Given the description of an element on the screen output the (x, y) to click on. 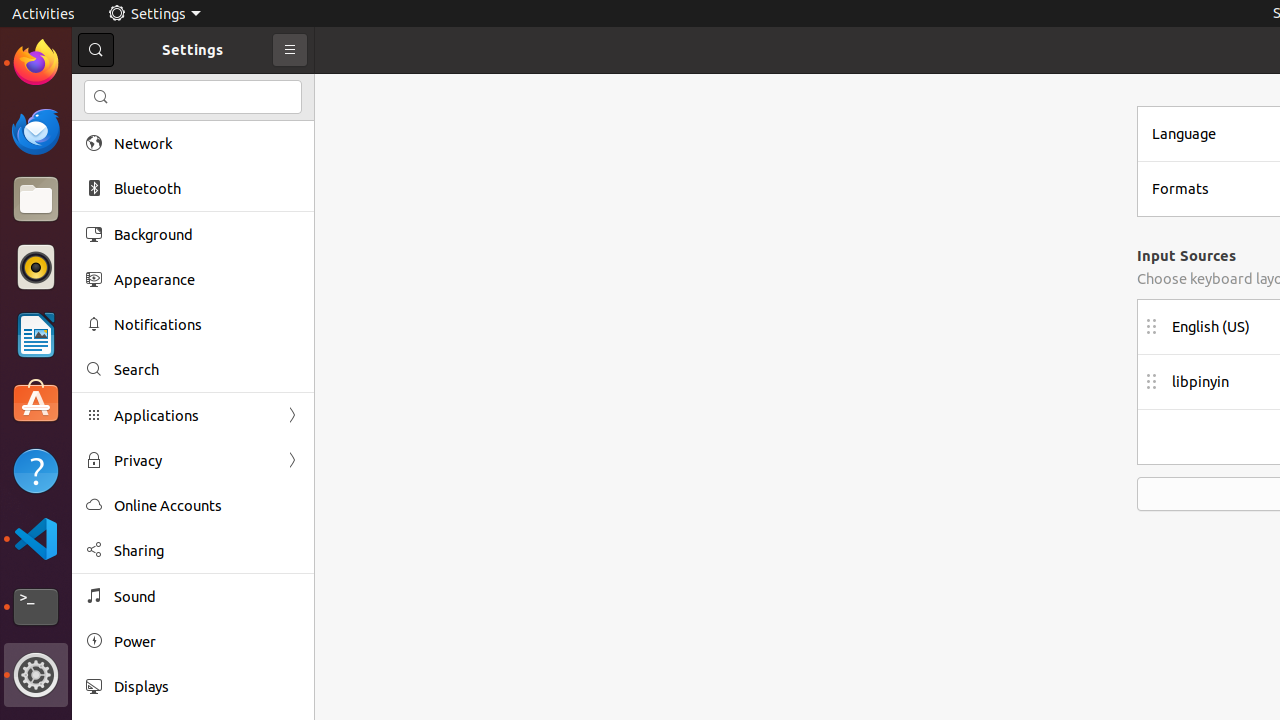
Privacy Element type: label (193, 460)
Sound Element type: label (207, 596)
Primary Menu Element type: toggle-button (290, 50)
Trash Element type: label (133, 191)
